Given the description of an element on the screen output the (x, y) to click on. 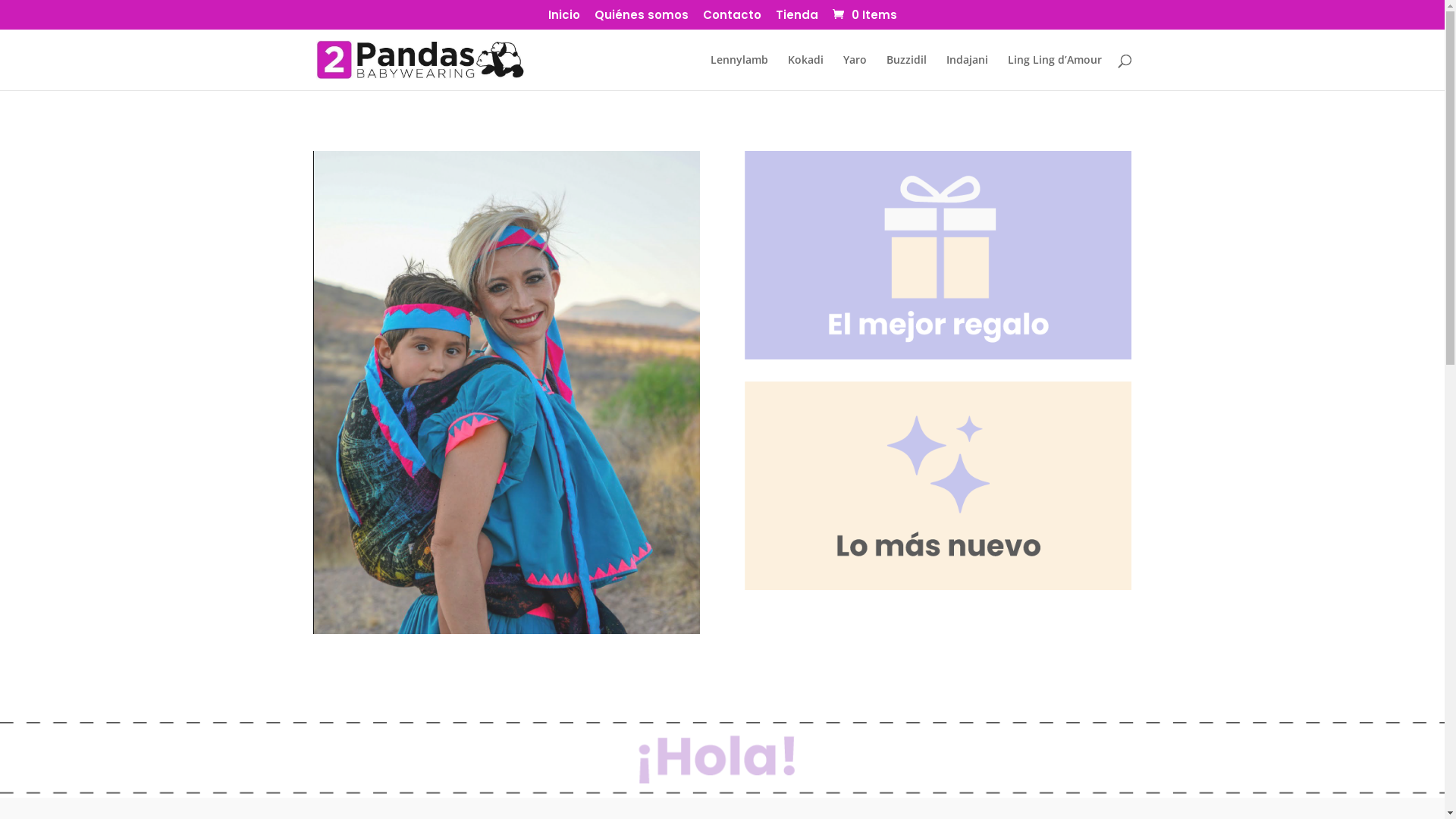
Kokadi Element type: text (804, 72)
Contacto Element type: text (731, 18)
Lennylamb Element type: text (738, 72)
0 Items Element type: text (863, 14)
Buzzidil Element type: text (905, 72)
Indajani Element type: text (967, 72)
Yaro Element type: text (854, 72)
Inicio Element type: text (563, 18)
Tienda Element type: text (796, 18)
